Given the description of an element on the screen output the (x, y) to click on. 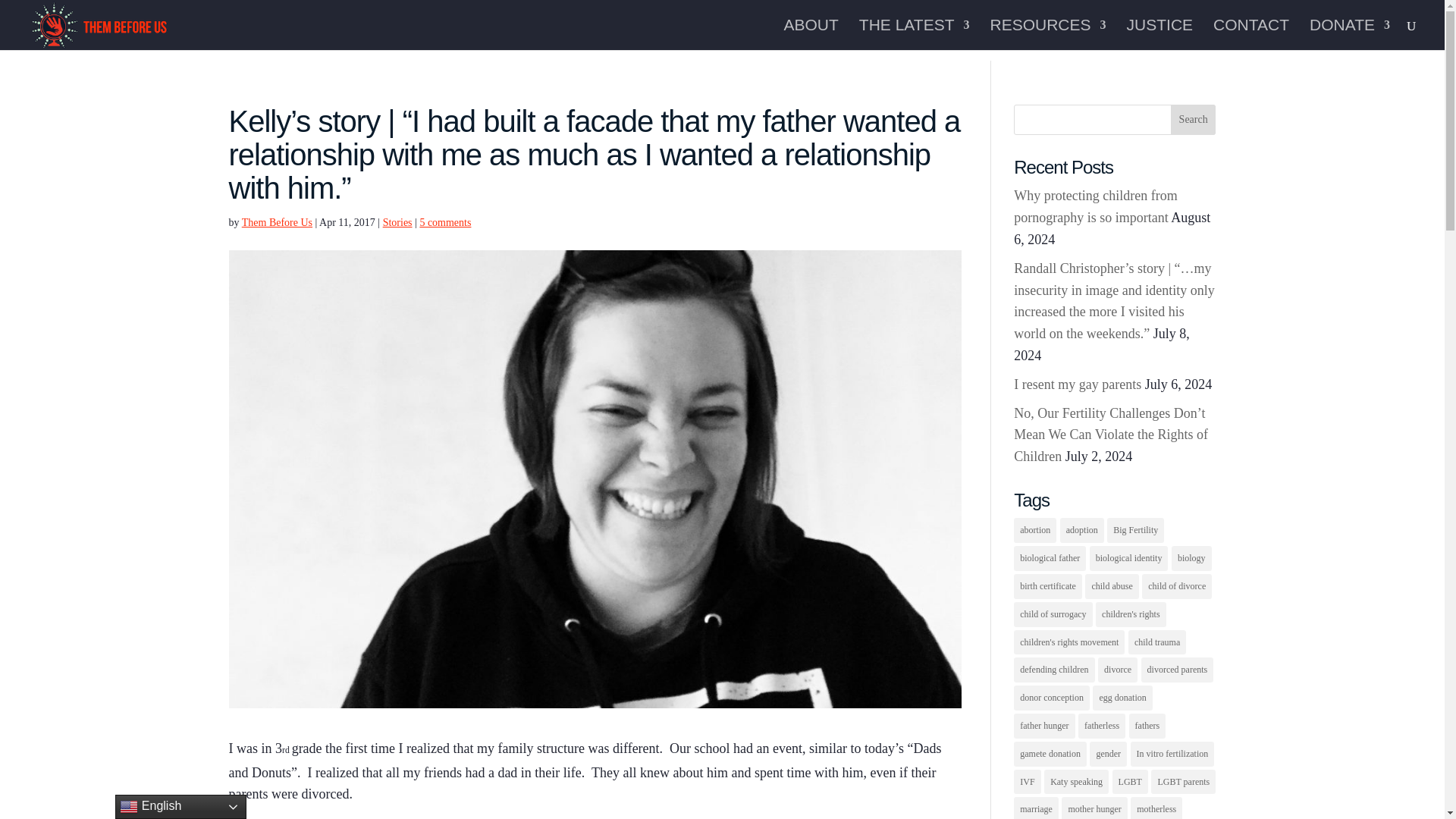
biological father (1049, 558)
biological identity (1129, 558)
Big Fertility (1134, 529)
Them Before Us (277, 222)
5 comments (444, 222)
THE LATEST (914, 34)
DONATE (1349, 34)
Search (1192, 119)
Posts by Them Before Us (277, 222)
I resent my gay parents (1077, 384)
